Given the description of an element on the screen output the (x, y) to click on. 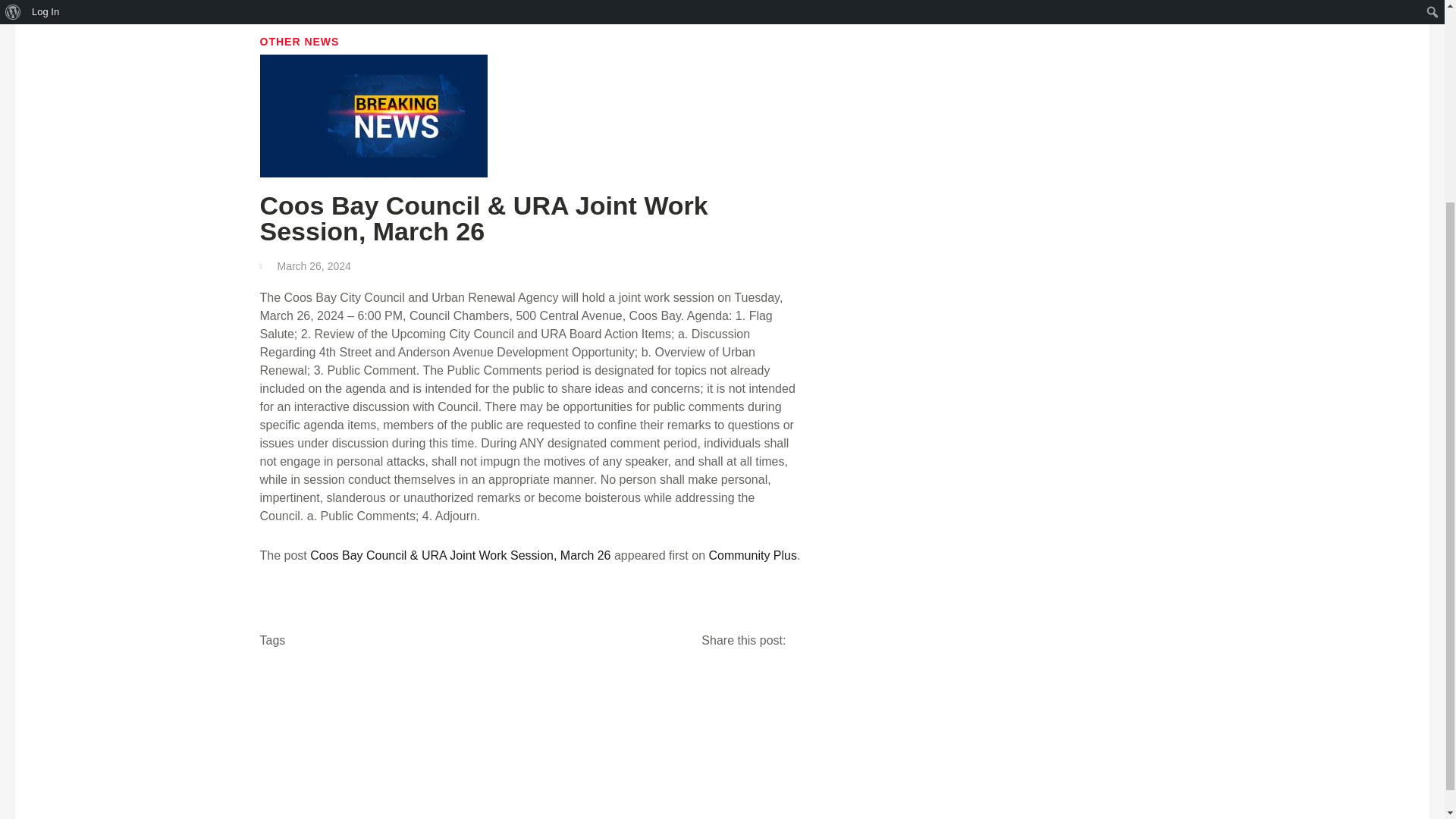
OTHER NEWS (299, 41)
March 26, 2024 (304, 265)
Community Plus (751, 554)
